Given the description of an element on the screen output the (x, y) to click on. 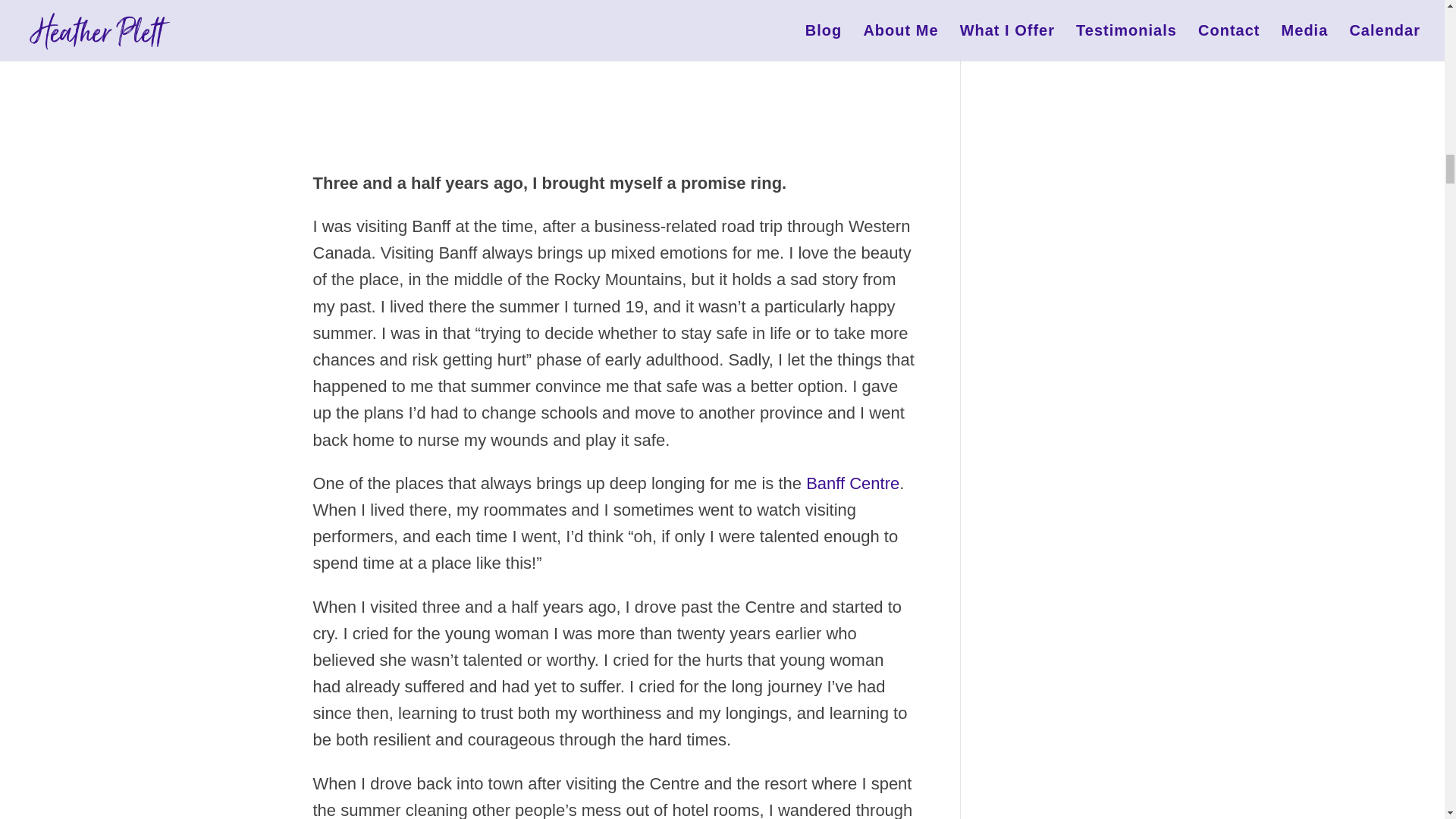
Banff Centre (852, 483)
